Given the description of an element on the screen output the (x, y) to click on. 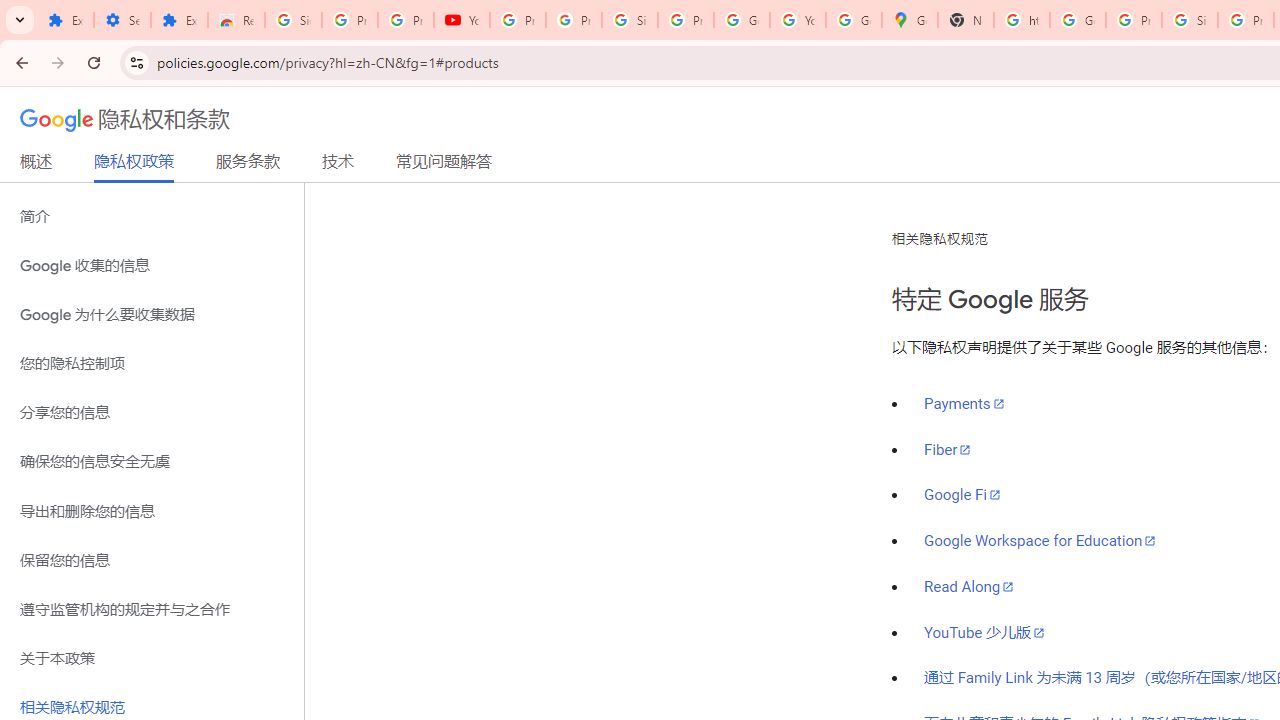
Sign in - Google Accounts (293, 20)
